Given the description of an element on the screen output the (x, y) to click on. 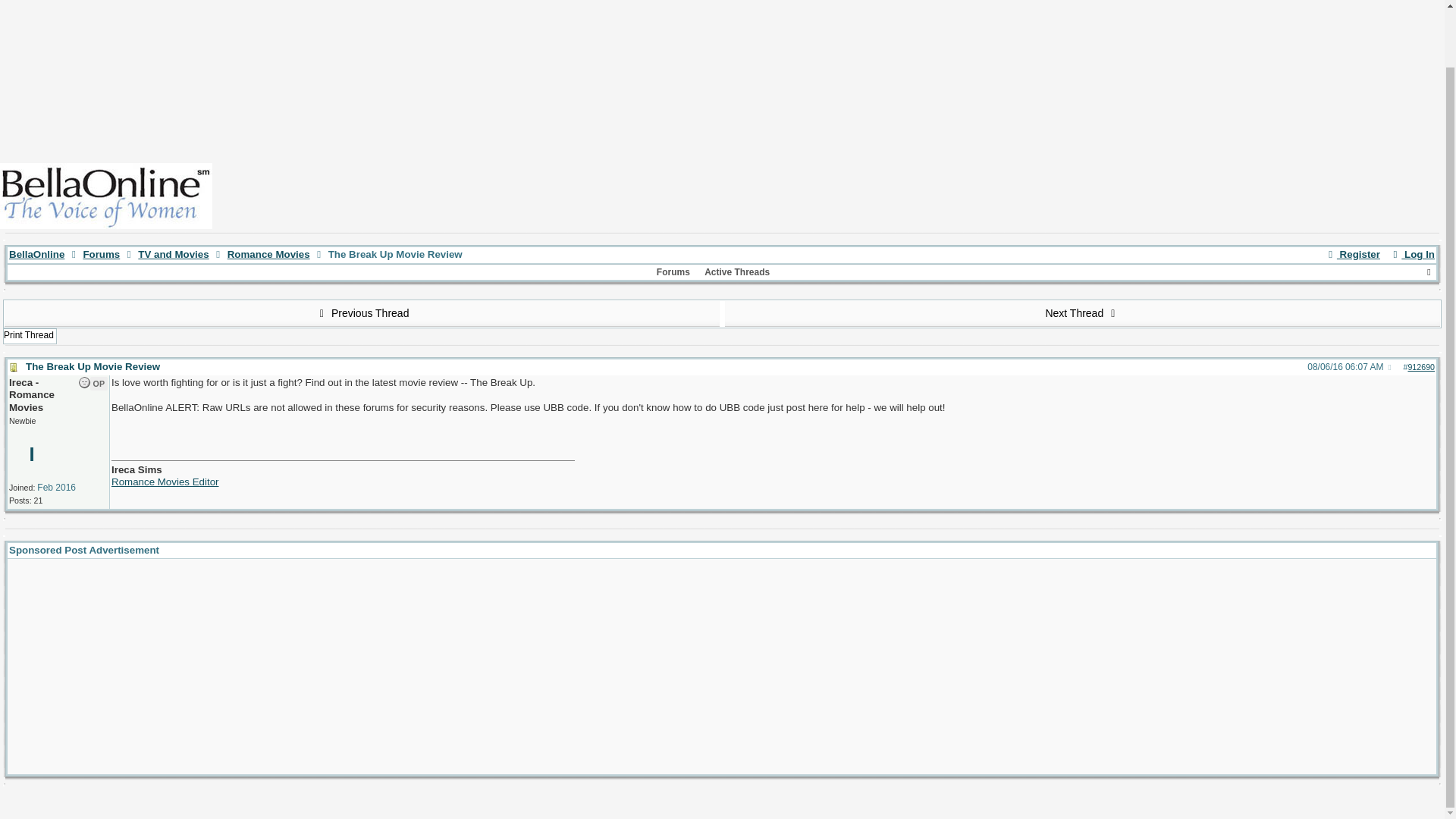
Share Post (1390, 367)
TV and Movies (173, 254)
The Break Up Movie Review (93, 366)
I (31, 453)
Forums (673, 272)
Ireca - Romance Movies (31, 453)
Active Threads (736, 272)
Romance Movies (268, 254)
912690 (1420, 366)
